Given the description of an element on the screen output the (x, y) to click on. 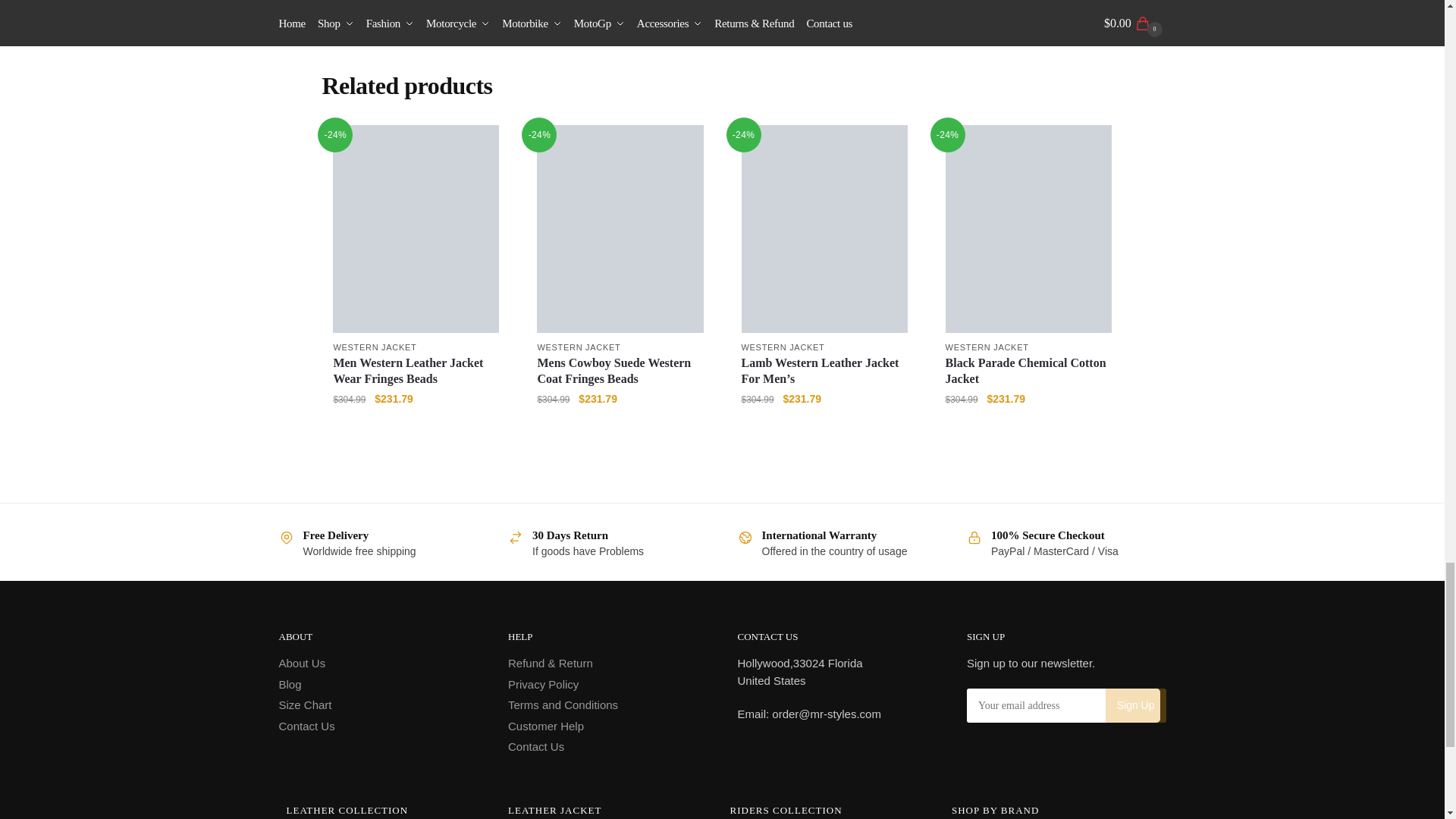
Sign up (1135, 705)
